Given the description of an element on the screen output the (x, y) to click on. 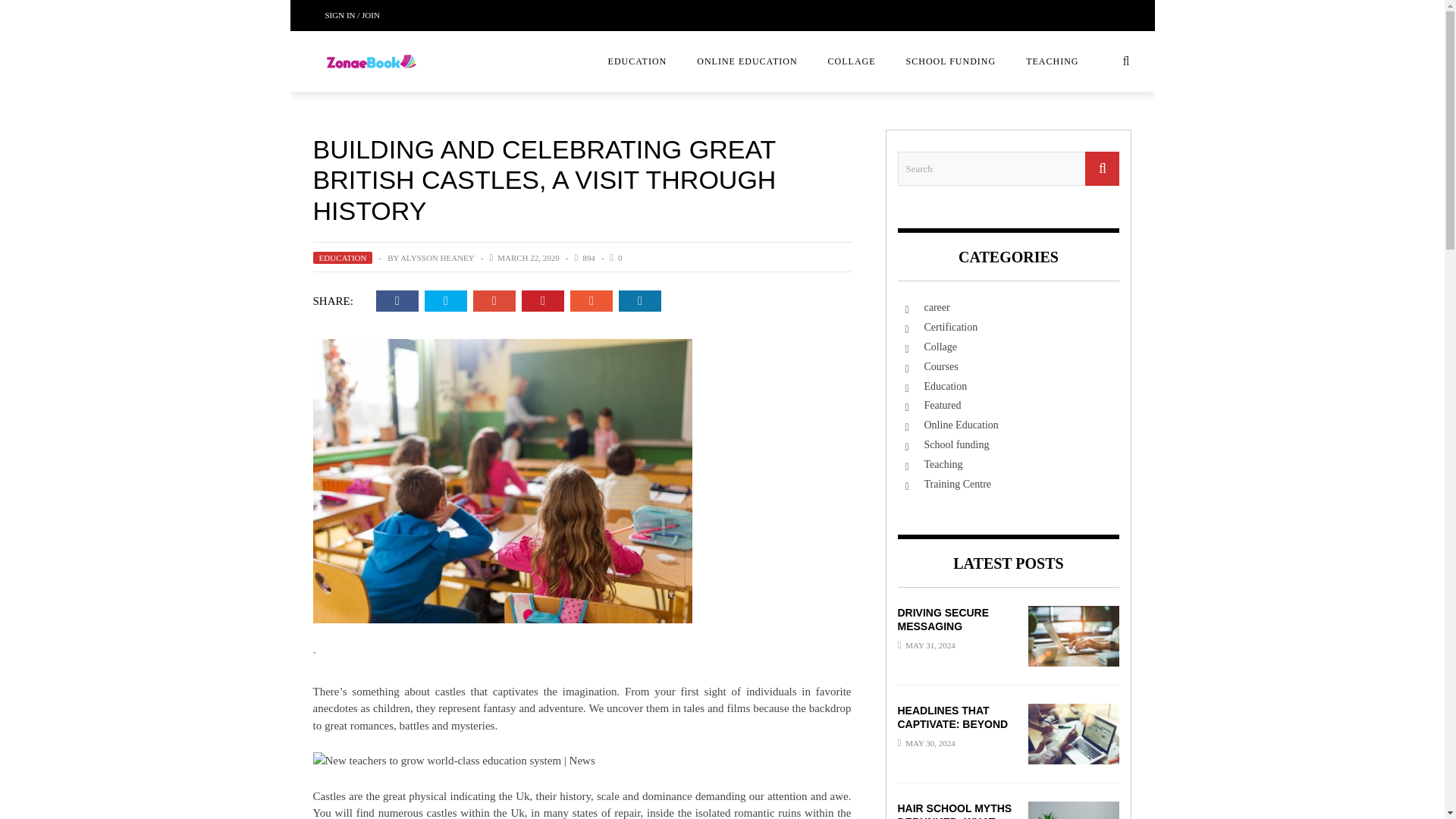
ALYSSON HEANEY (437, 257)
EDUCATION (342, 257)
COLLAGE (851, 61)
Facebook (396, 301)
EDUCATION (637, 61)
TEACHING (1051, 61)
CONTACT US (191, 86)
SCHOOL FUNDING (951, 61)
ONLINE EDUCATION (746, 61)
Pinterest (542, 301)
Google Plus (494, 301)
Stumbleupon (591, 301)
Twitter (446, 301)
Linkedin (639, 301)
HOME (191, 116)
